Given the description of an element on the screen output the (x, y) to click on. 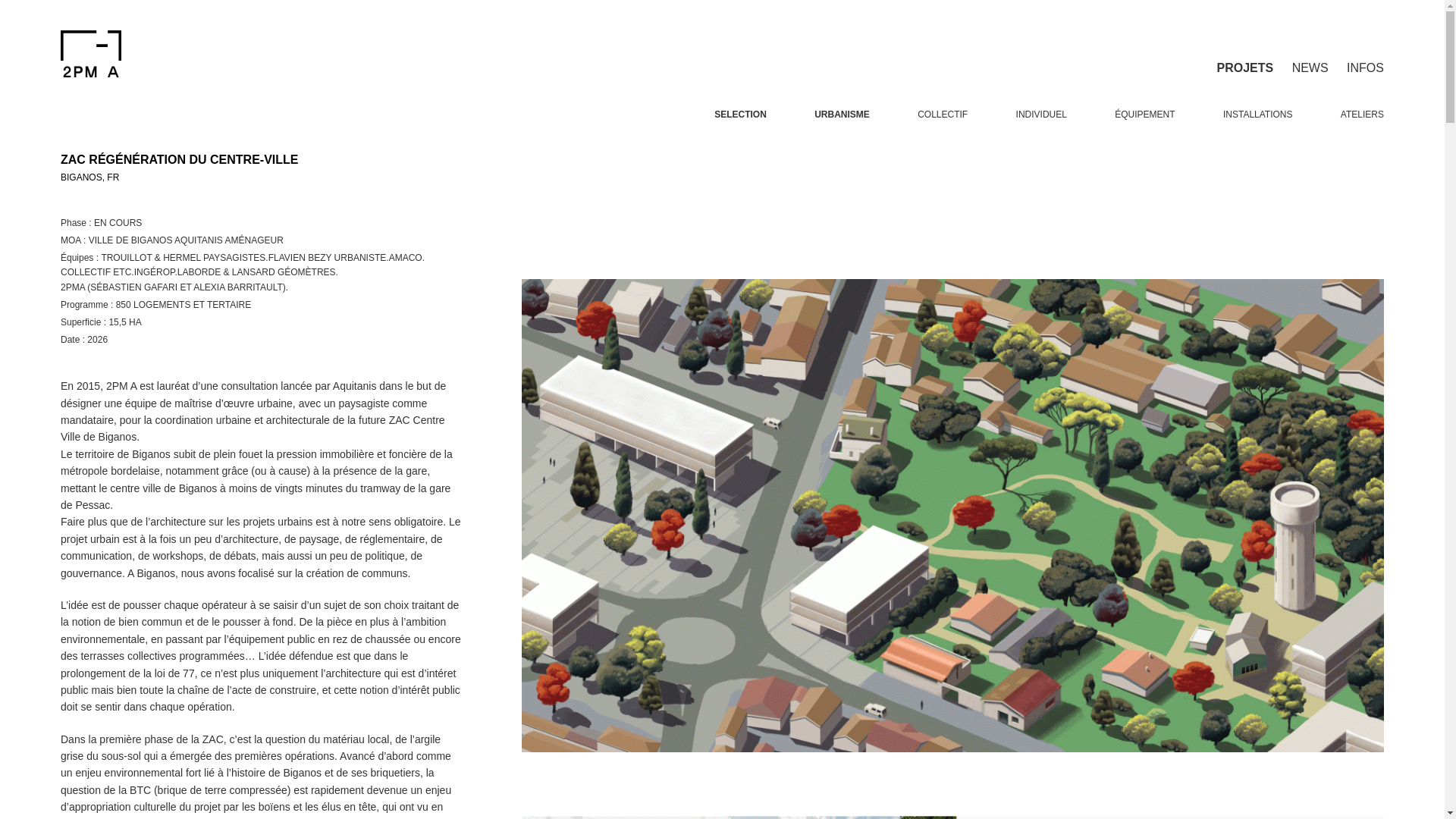
URBANISME Element type: text (841, 101)
NEWS Element type: text (1310, 57)
FLAVIEN BEZY URBANISTE Element type: text (327, 257)
SELECTION Element type: text (740, 101)
AMACO Element type: text (405, 257)
2PM A Element type: hover (145, 53)
INFOS Element type: text (1364, 57)
COLLECTIF Element type: text (942, 101)
COLLECTIF ETC Element type: text (95, 271)
TROUILLOT & HERMEL PAYSAGISTES Element type: text (182, 257)
INSTALLATIONS Element type: text (1257, 101)
PROJETS Element type: text (1244, 57)
INDIVIDUEL Element type: text (1041, 101)
ATELIERS Element type: text (1361, 101)
